Given the description of an element on the screen output the (x, y) to click on. 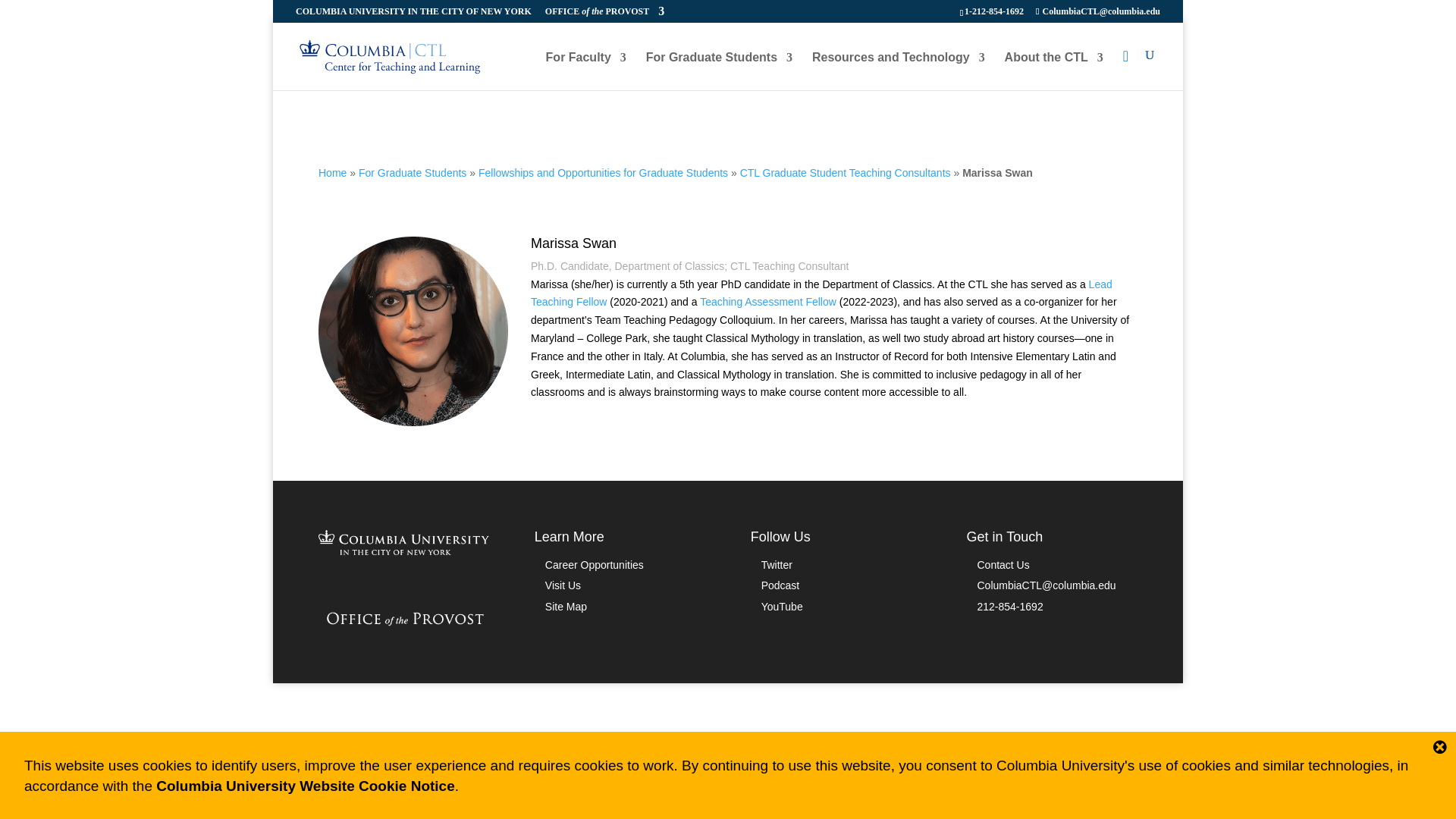
COLUMBIA UNIVERSITY IN THE CITY OF NEW YORK (413, 14)
Contact Us (593, 564)
Columbia University (403, 551)
Resources and Technology (898, 69)
OFFICE of the PROVOST (603, 14)
About the CTL (1053, 69)
Office of the Provost (403, 628)
For Graduate Students (719, 69)
For Faculty (586, 69)
